Given the description of an element on the screen output the (x, y) to click on. 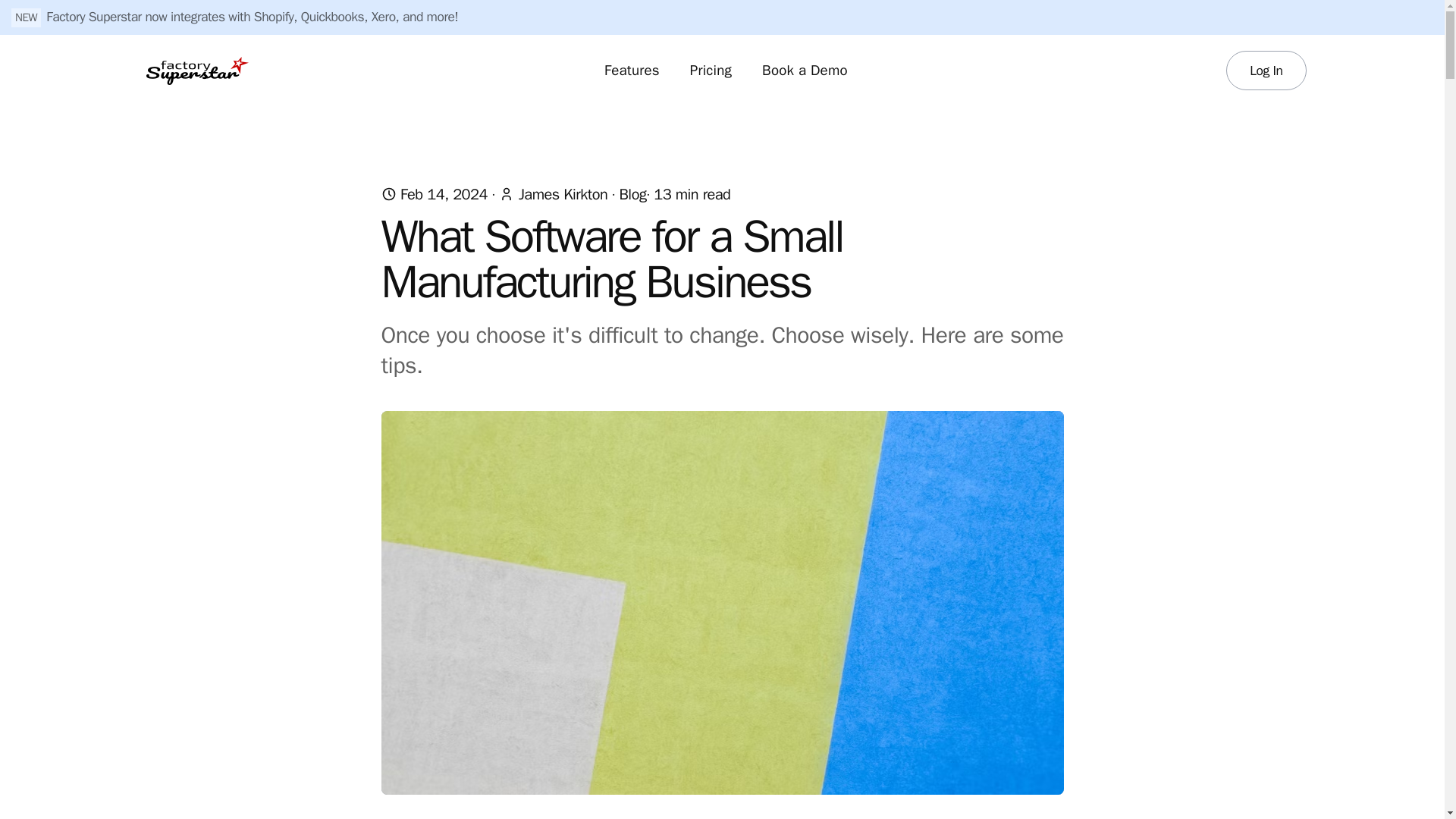
Log In (1265, 70)
Blog (632, 194)
Features (632, 70)
Book a Demo (804, 70)
Pricing (710, 70)
